Given the description of an element on the screen output the (x, y) to click on. 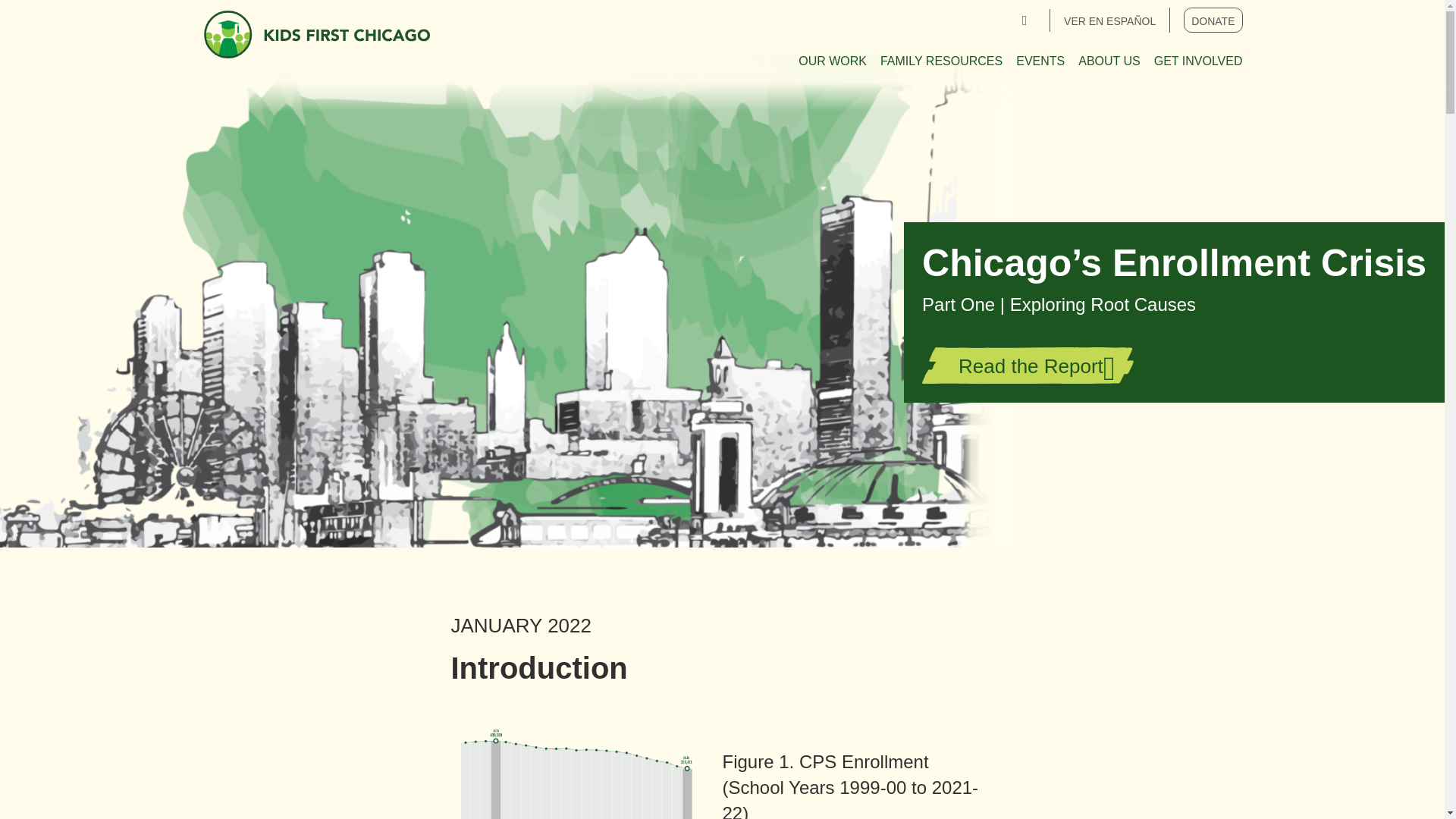
OUR WORK (831, 62)
DONATE (1212, 19)
Read the Report (1036, 366)
ABOUT US (1109, 62)
EVENTS (1040, 62)
GET INVOLVED (1198, 62)
FAMILY RESOURCES (941, 62)
